Given the description of an element on the screen output the (x, y) to click on. 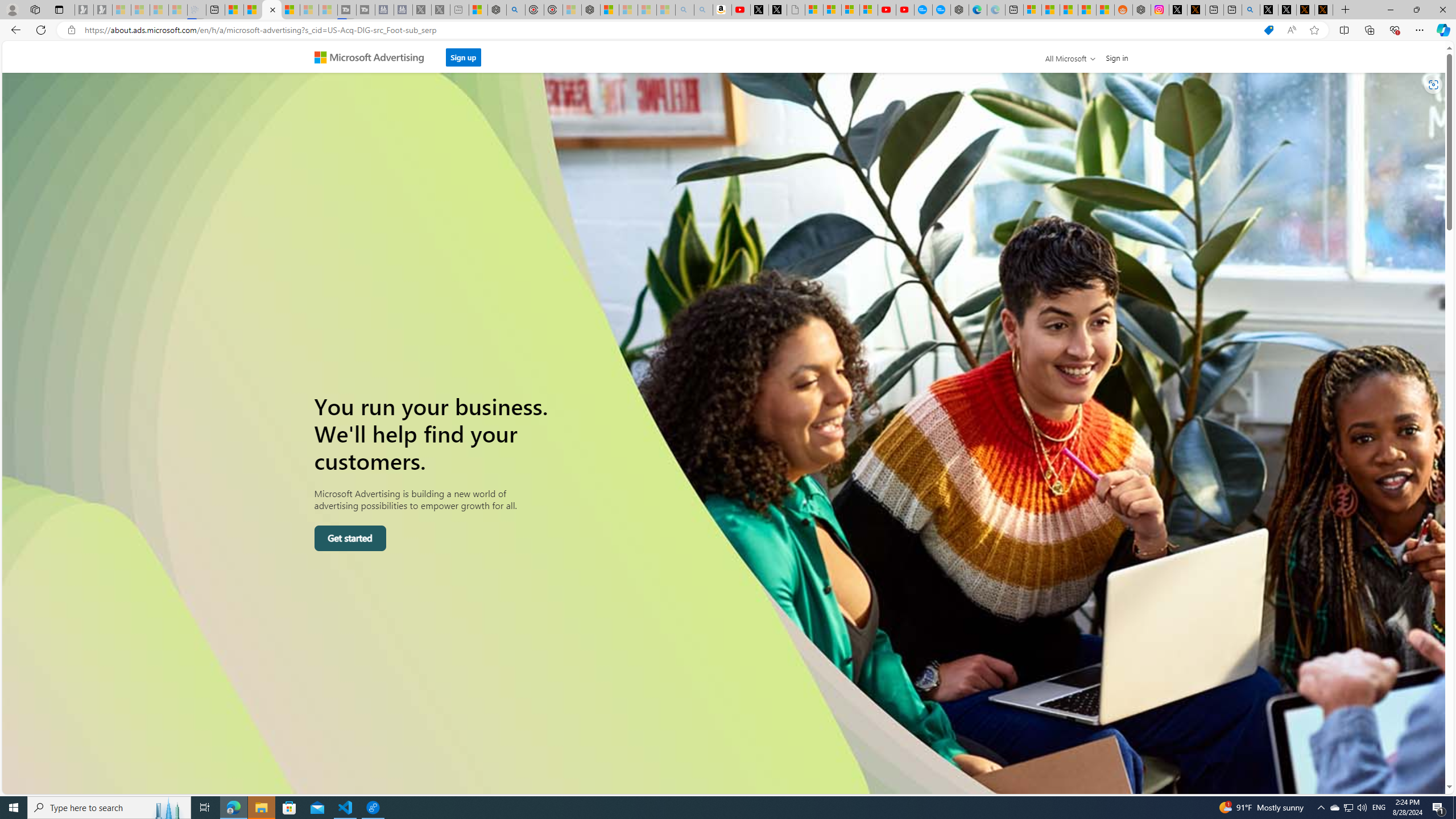
Nordace - Nordace Siena Is Not An Ordinary Backpack (590, 9)
YouTube Kids - An App Created for Kids to Explore Content (904, 9)
amazon - Search - Sleeping (684, 9)
Day 1: Arriving in Yemen (surreal to be here) - YouTube (740, 9)
Get started (349, 537)
Shanghai, China weather forecast | Microsoft Weather (1050, 9)
Newsletter Sign Up - Sleeping (102, 9)
